Given the description of an element on the screen output the (x, y) to click on. 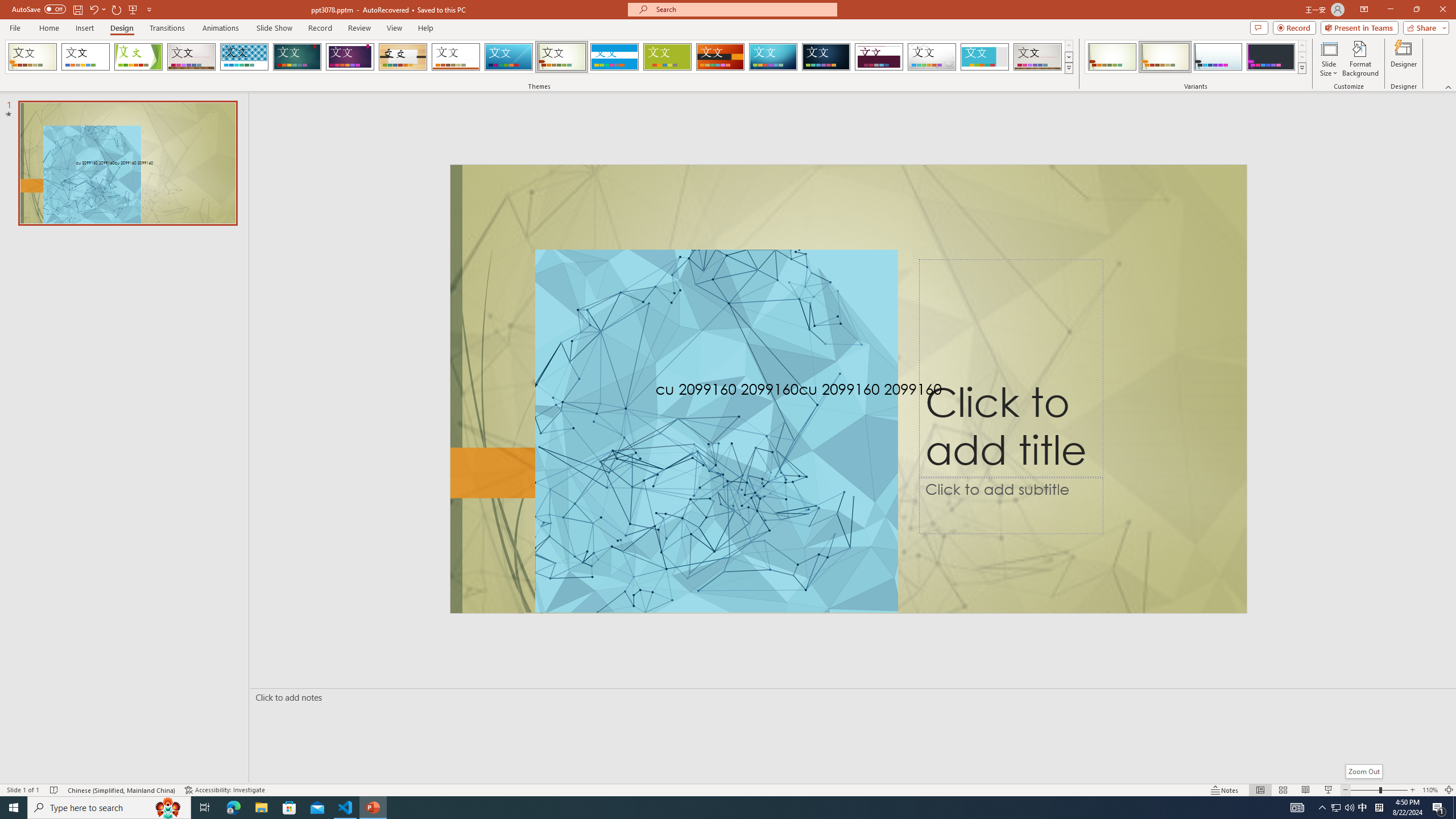
Ion Boardroom Loading Preview... (350, 56)
Zoom 110% (1430, 790)
Ion Loading Preview... (296, 56)
AutomationID: SlideThemesGallery (539, 56)
